Given the description of an element on the screen output the (x, y) to click on. 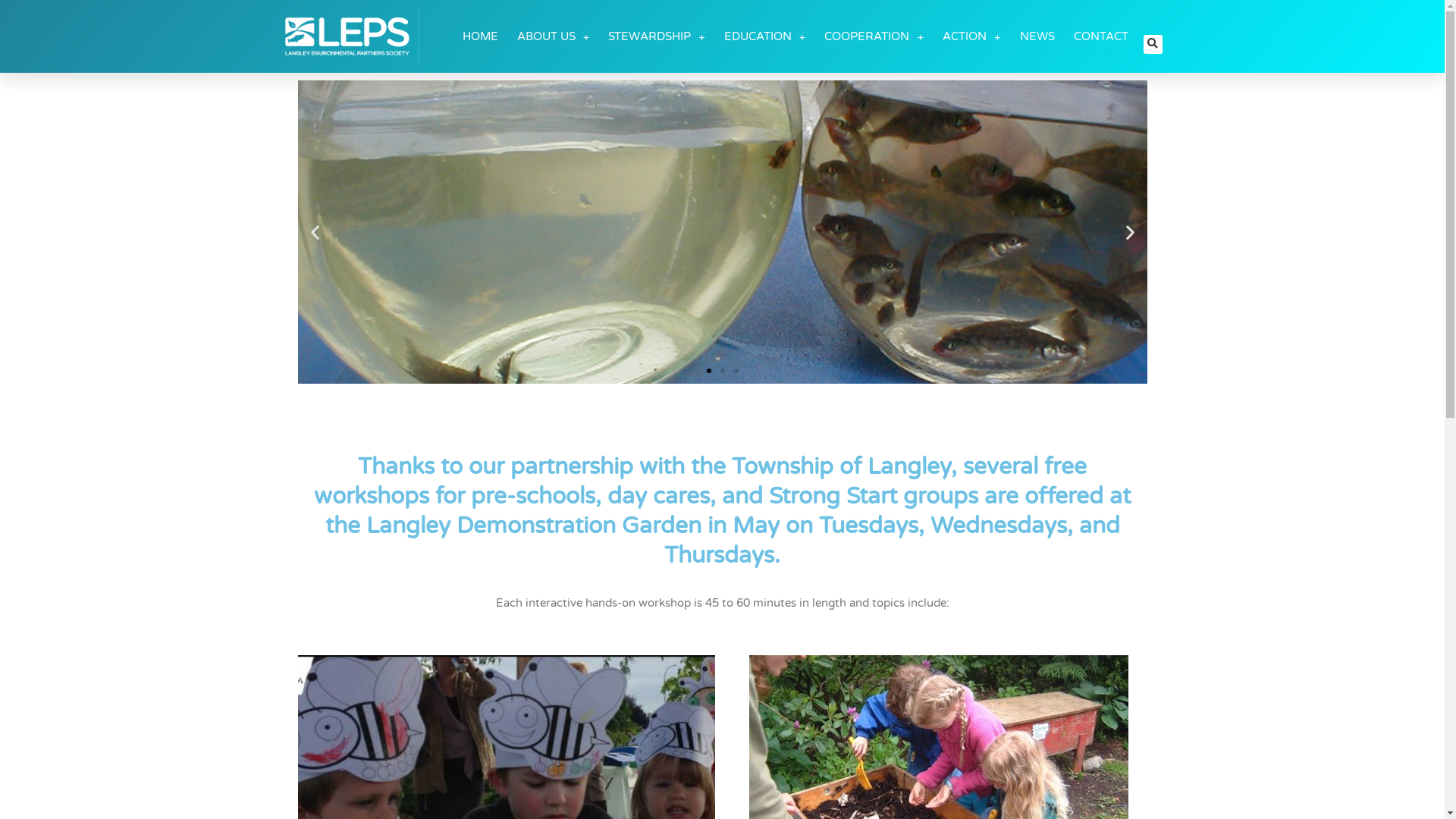
ABOUT US Element type: text (553, 36)
EDUCATION Element type: text (765, 36)
NEWS Element type: text (1036, 36)
STEWARDSHIP Element type: text (656, 36)
COOPERATION Element type: text (873, 36)
HOME Element type: text (480, 36)
ACTION Element type: text (971, 36)
CONTACT Element type: text (1100, 36)
